Given the description of an element on the screen output the (x, y) to click on. 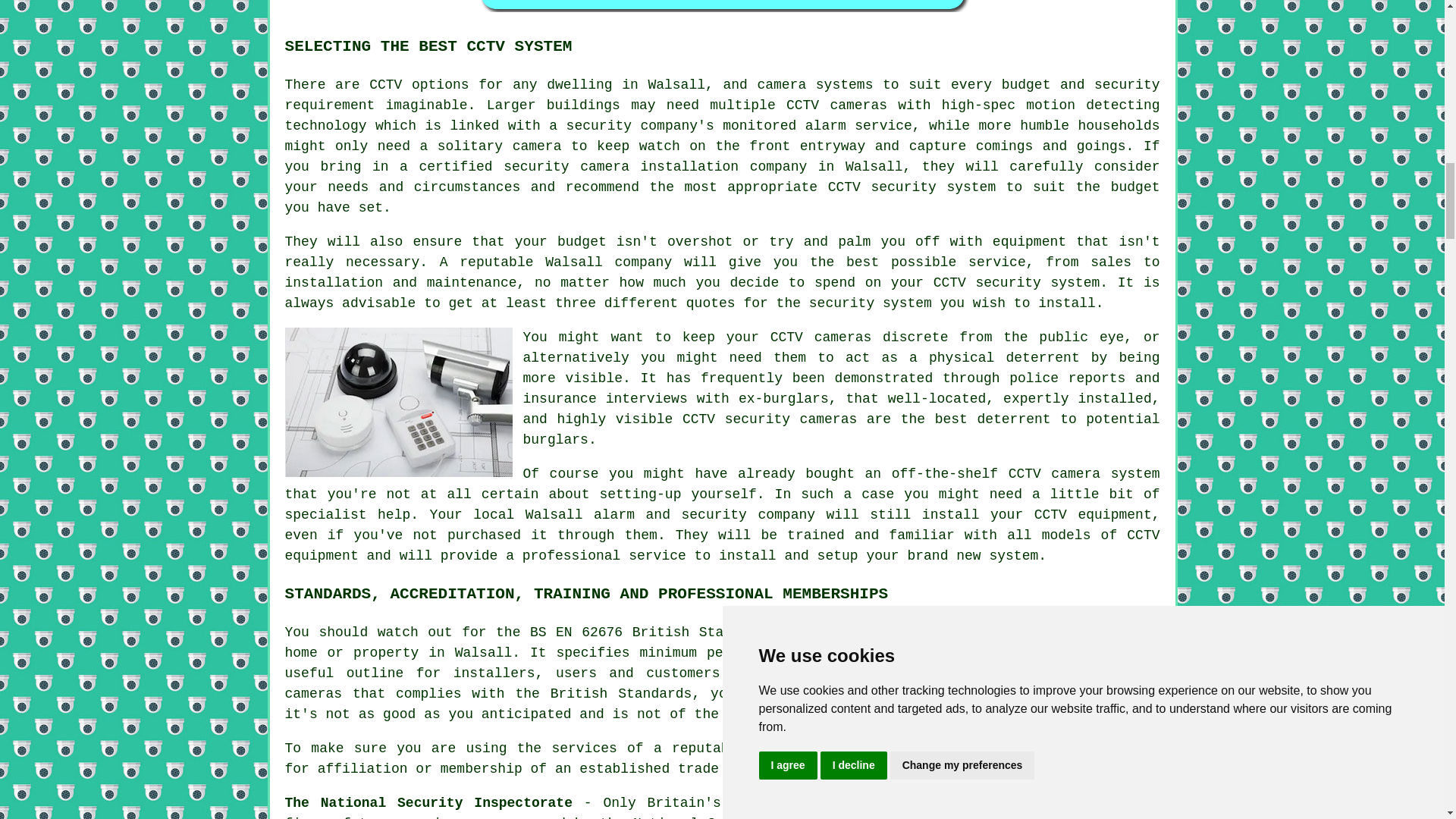
Walsall CCTV Cameras (1046, 806)
CCTV Quotes Walsall West Midlands (722, 6)
CCTV (1050, 514)
Walsall CCTV Systems (398, 401)
CCTV (385, 84)
